Given the description of an element on the screen output the (x, y) to click on. 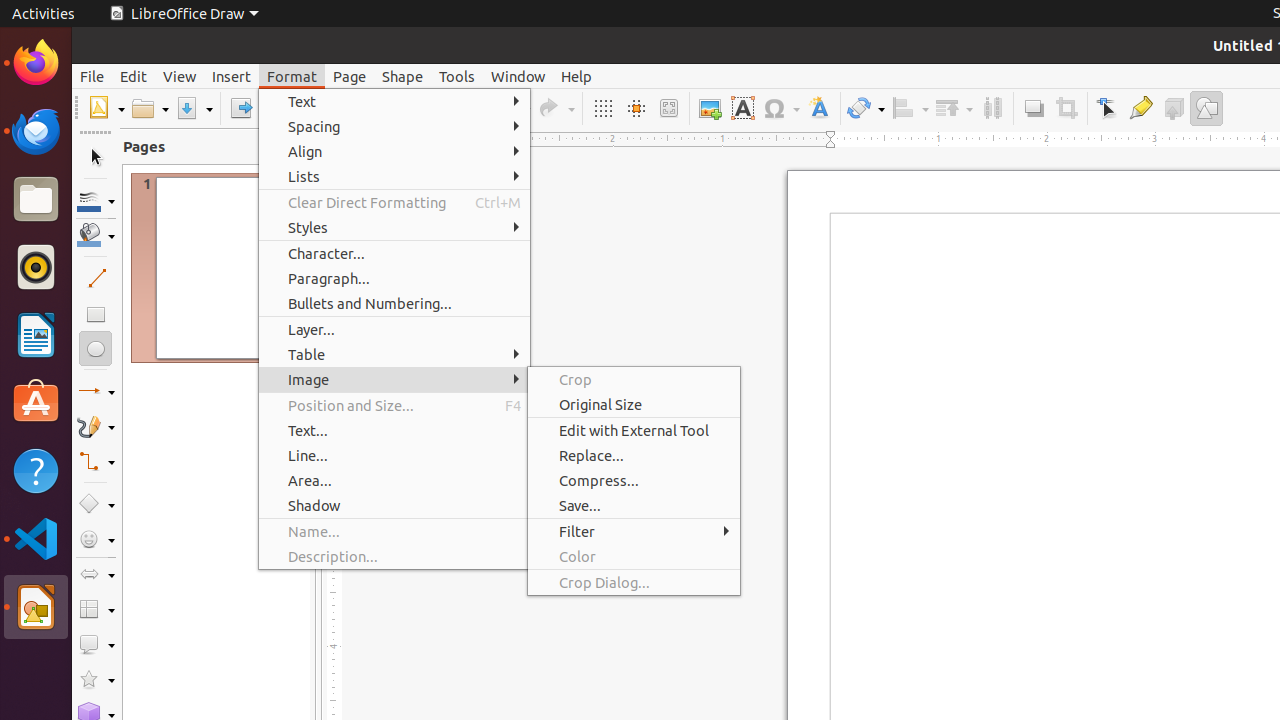
Thunderbird Mail Element type: push-button (36, 131)
Clear Direct Formatting Element type: menu-item (394, 202)
Grid Element type: toggle-button (602, 108)
Image Element type: push-button (709, 108)
